Given the description of an element on the screen output the (x, y) to click on. 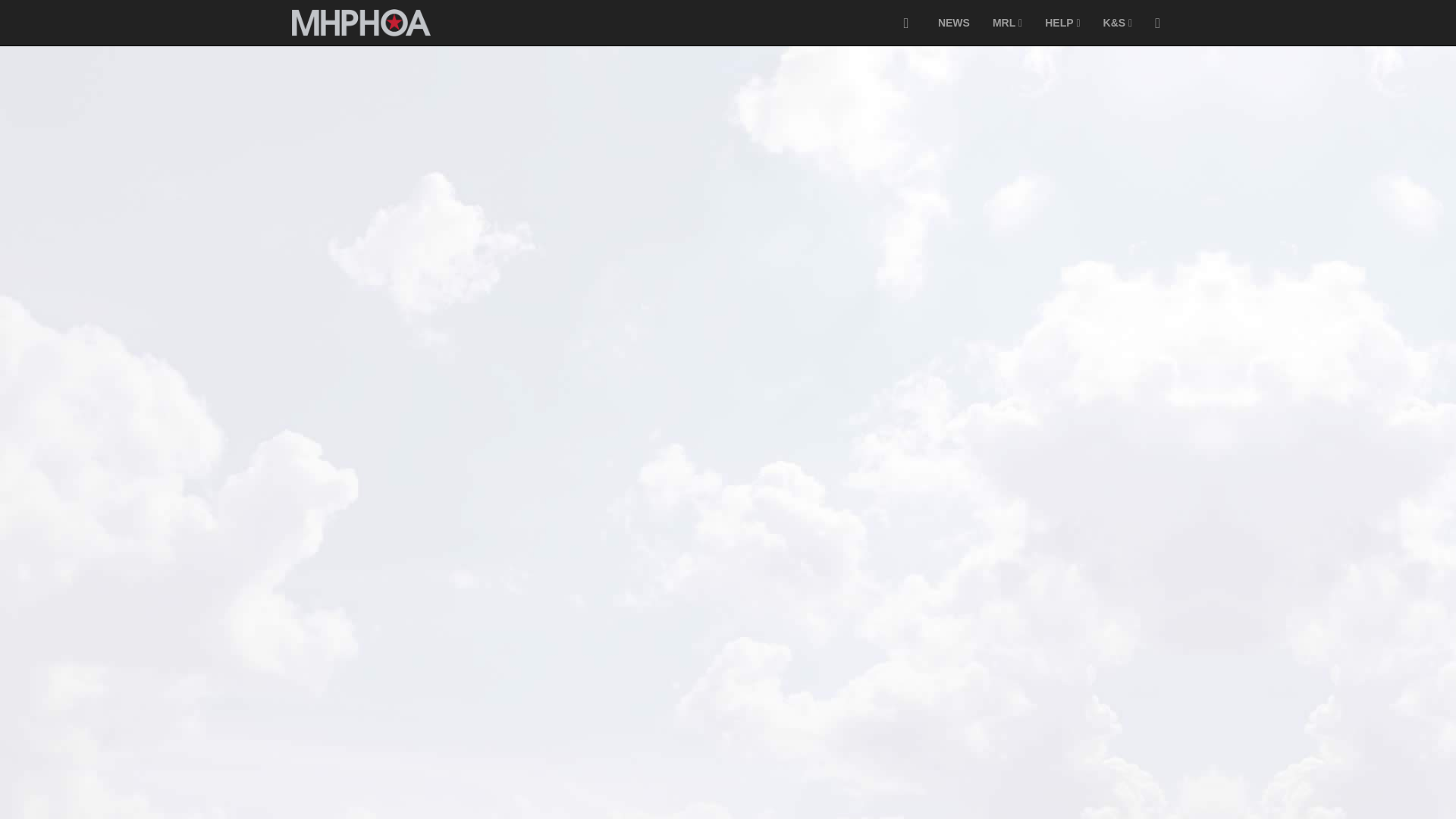
MRL (1007, 22)
HELP (1061, 22)
Expand (905, 22)
NEWS (953, 22)
